Given the description of an element on the screen output the (x, y) to click on. 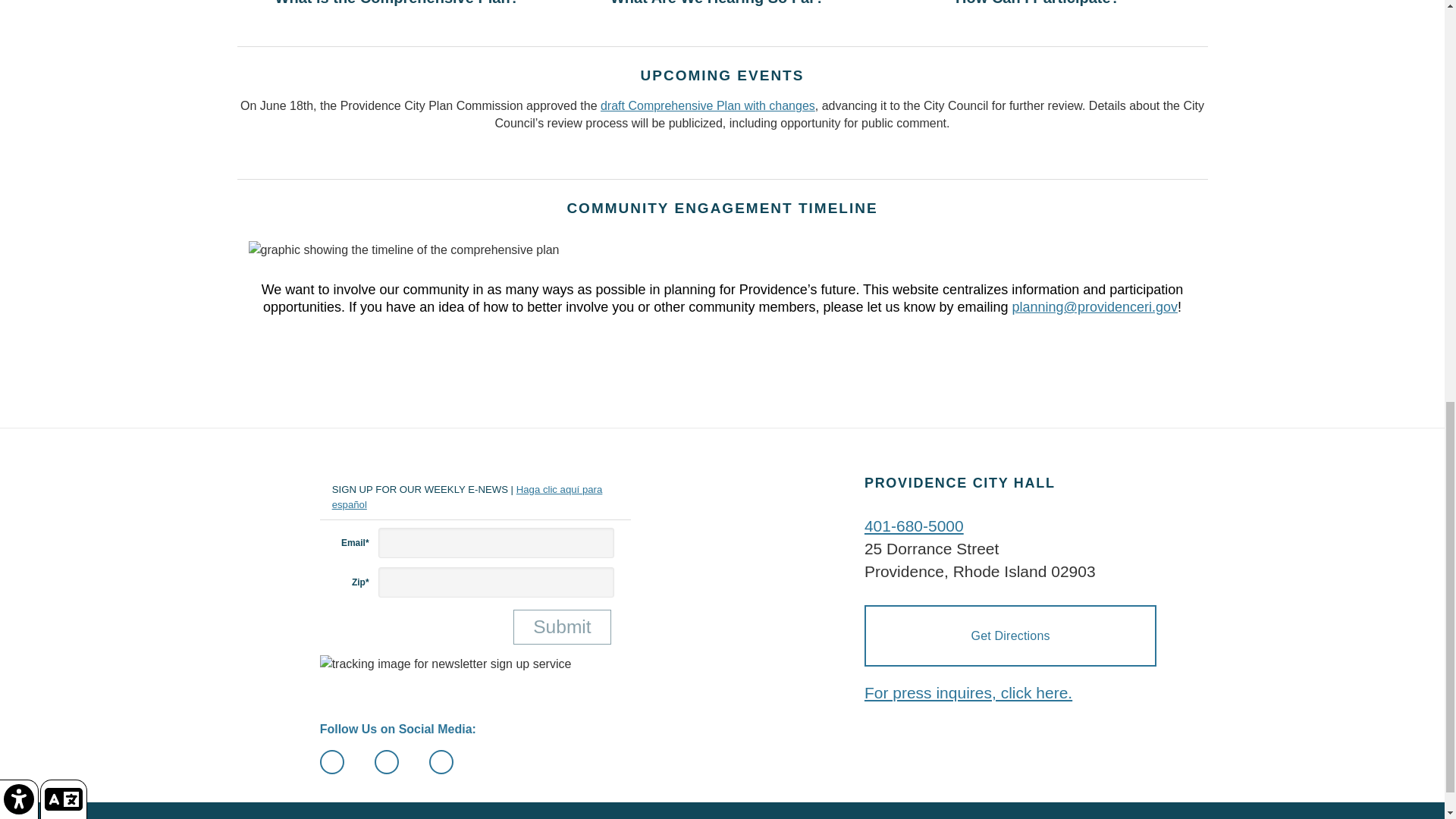
Submit (562, 627)
